Given the description of an element on the screen output the (x, y) to click on. 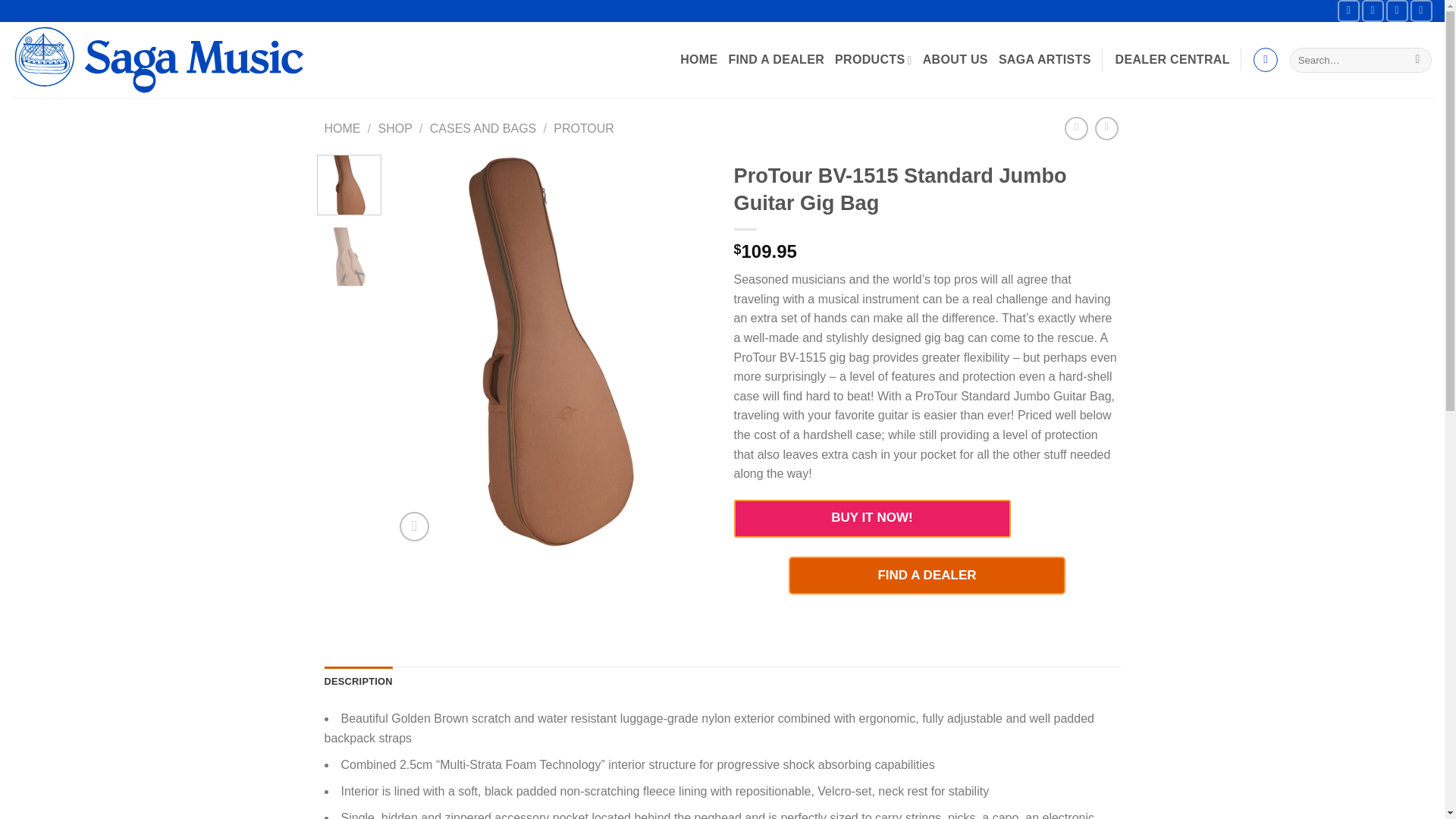
Follow on Instagram (1372, 11)
SHOP (394, 128)
Saga Musical Instruments (163, 59)
ABOUT US (955, 59)
Search (1417, 60)
FIND A DEALER (777, 59)
Login (1171, 59)
Follow on Facebook (1348, 11)
Zoom (413, 526)
SAGA ARTISTS (1044, 59)
HOME (342, 128)
Follow on Twitter (1396, 11)
CASES AND BAGS (483, 128)
PROTOUR (583, 128)
Follow on YouTube (1421, 11)
